Given the description of an element on the screen output the (x, y) to click on. 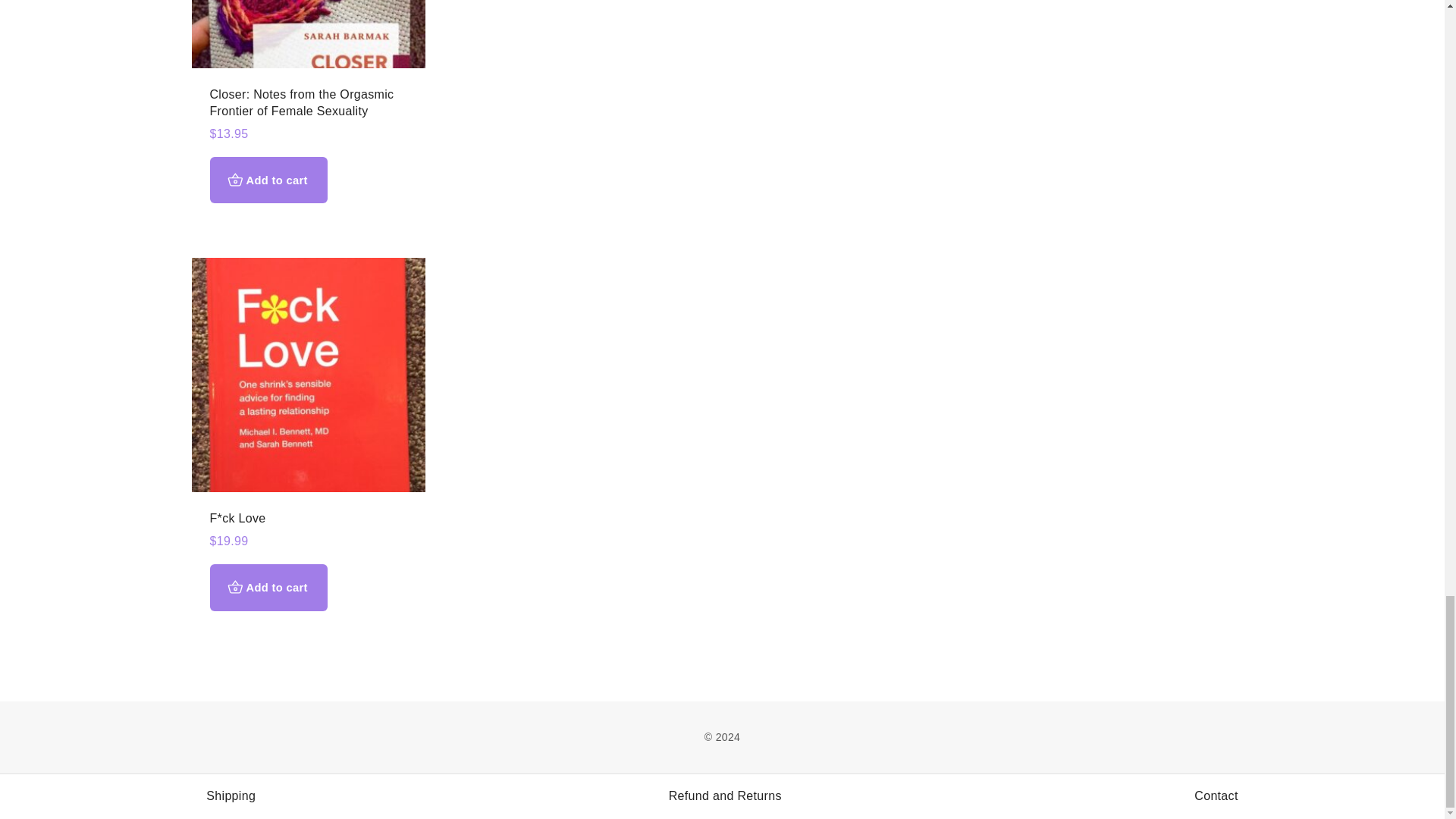
Closer: Notes from the Orgasmic Frontier of Female Sexuality (301, 102)
